Given the description of an element on the screen output the (x, y) to click on. 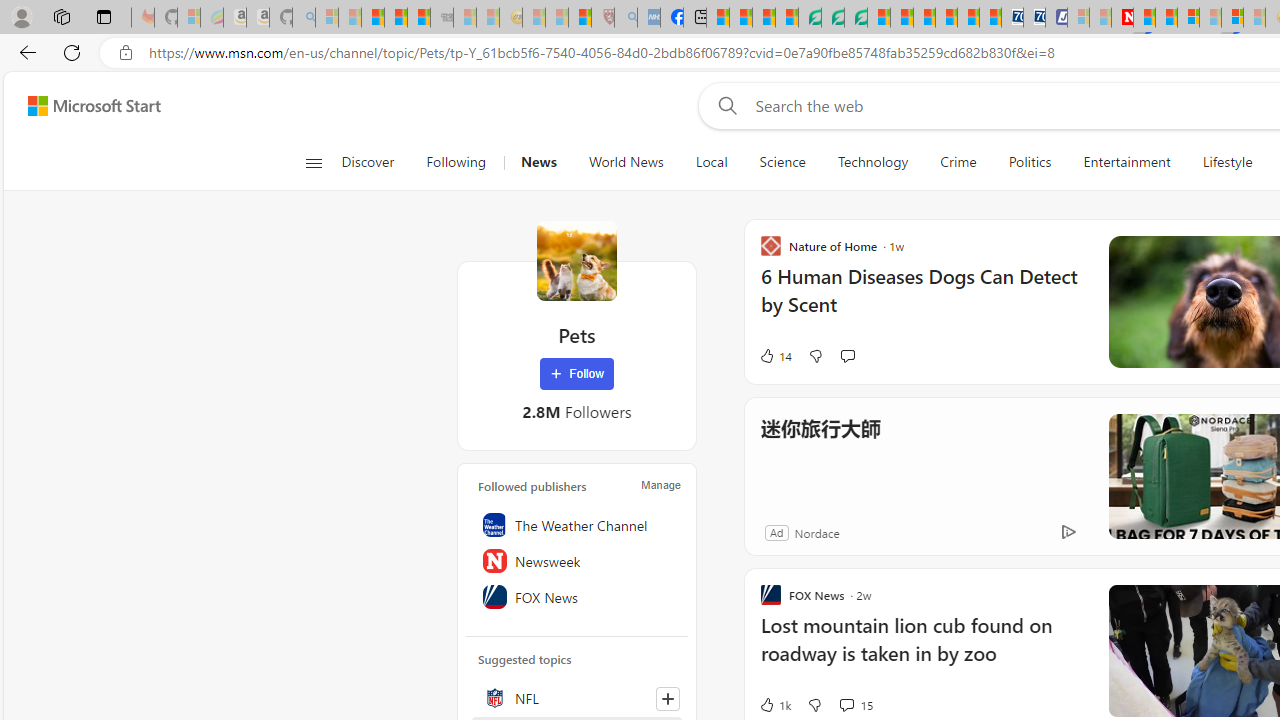
Microsoft Start - Sleeping (1100, 17)
list of asthma inhalers uk - Search - Sleeping (625, 17)
New Report Confirms 2023 Was Record Hot | Watch (419, 17)
News (537, 162)
Pets (576, 260)
The Weather Channel (577, 525)
LendingTree - Compare Lenders (809, 17)
Discover (375, 162)
Entertainment (1126, 162)
Politics (1030, 162)
Follow this topic (667, 698)
Robert H. Shmerling, MD - Harvard Health - Sleeping (602, 17)
Lifestyle (1227, 162)
